Given the description of an element on the screen output the (x, y) to click on. 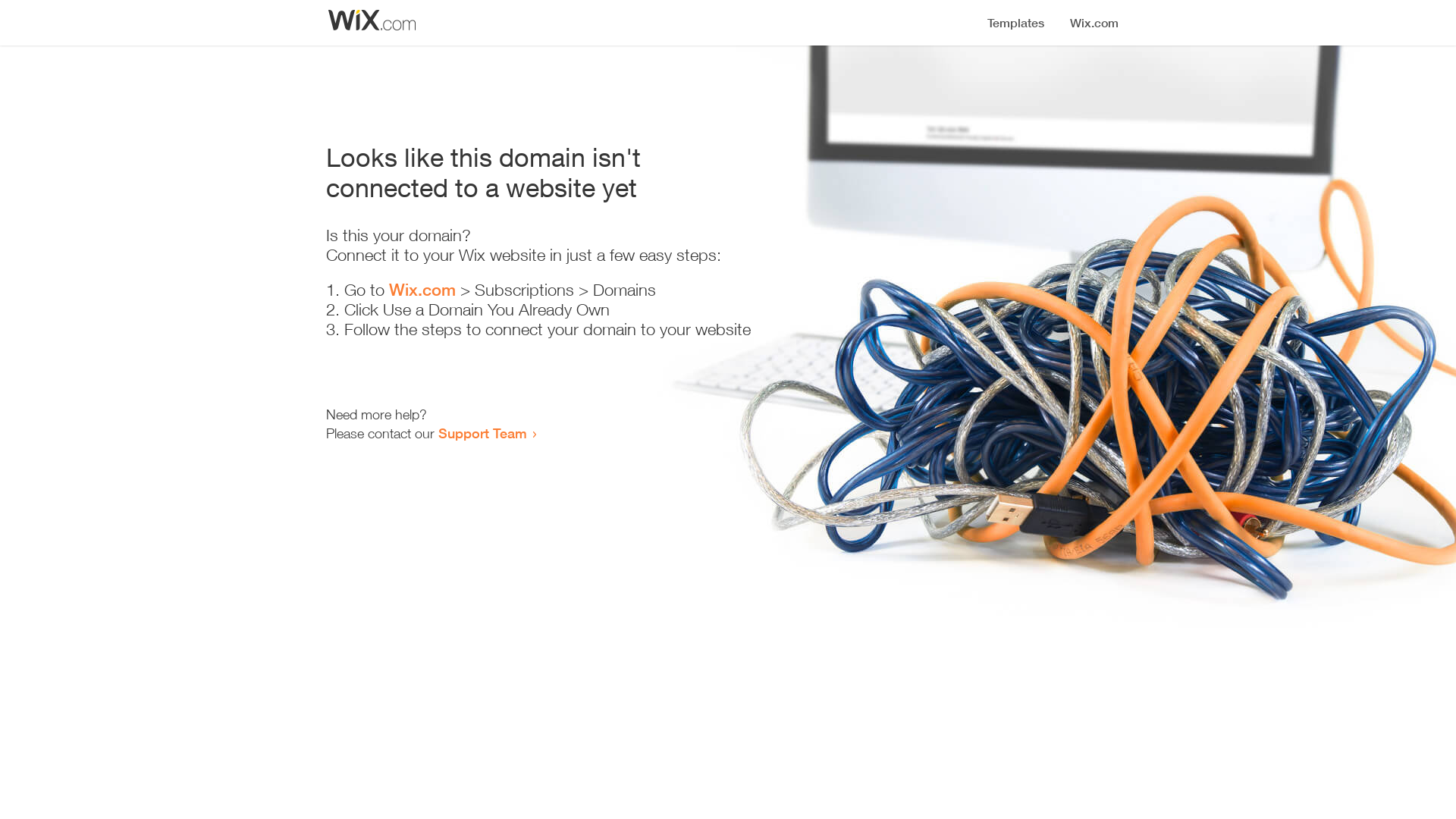
Wix.com Element type: text (422, 289)
Support Team Element type: text (482, 432)
